Given the description of an element on the screen output the (x, y) to click on. 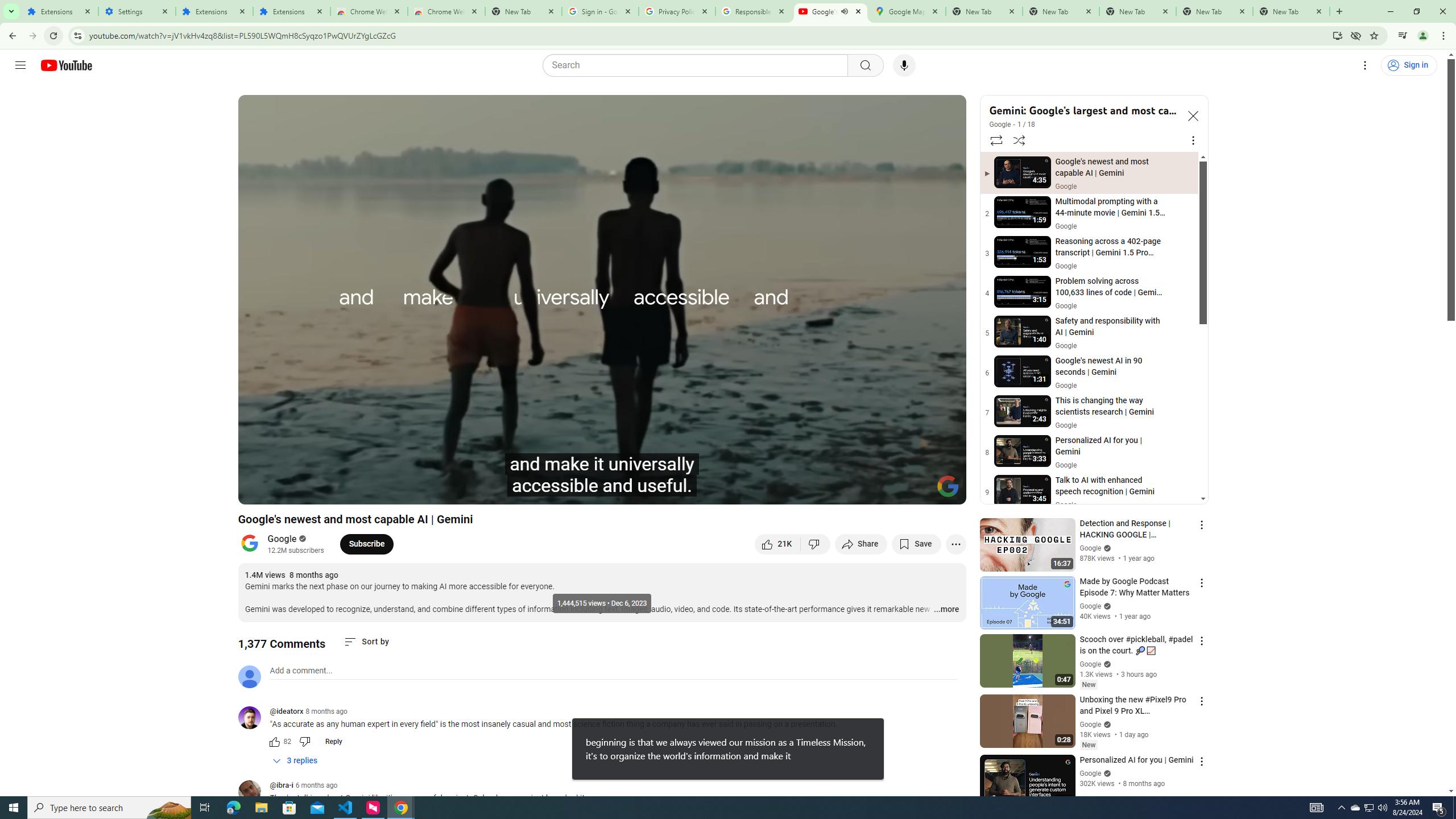
Install YouTube (1336, 35)
Subtitles/closed captions unavailable (836, 490)
@ideatorx (253, 717)
Sort comments (366, 641)
@ibra-i (253, 792)
Previous (SHIFT+p) (259, 490)
Settings (136, 11)
